Given the description of an element on the screen output the (x, y) to click on. 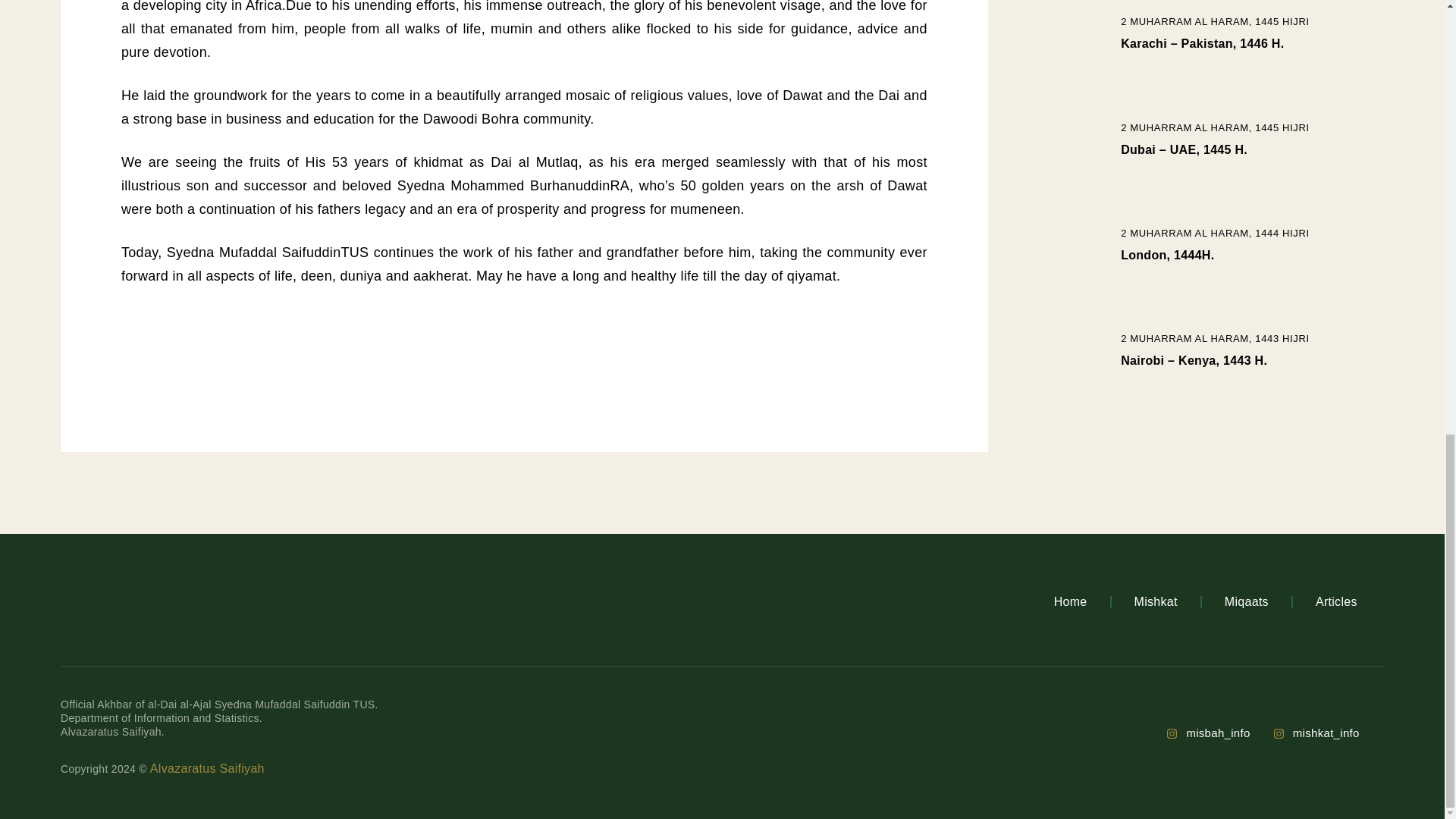
Miqaats (1246, 601)
Mishkat (1155, 601)
Articles (1336, 601)
Home (1070, 601)
London, 1444H. (1167, 254)
